Given the description of an element on the screen output the (x, y) to click on. 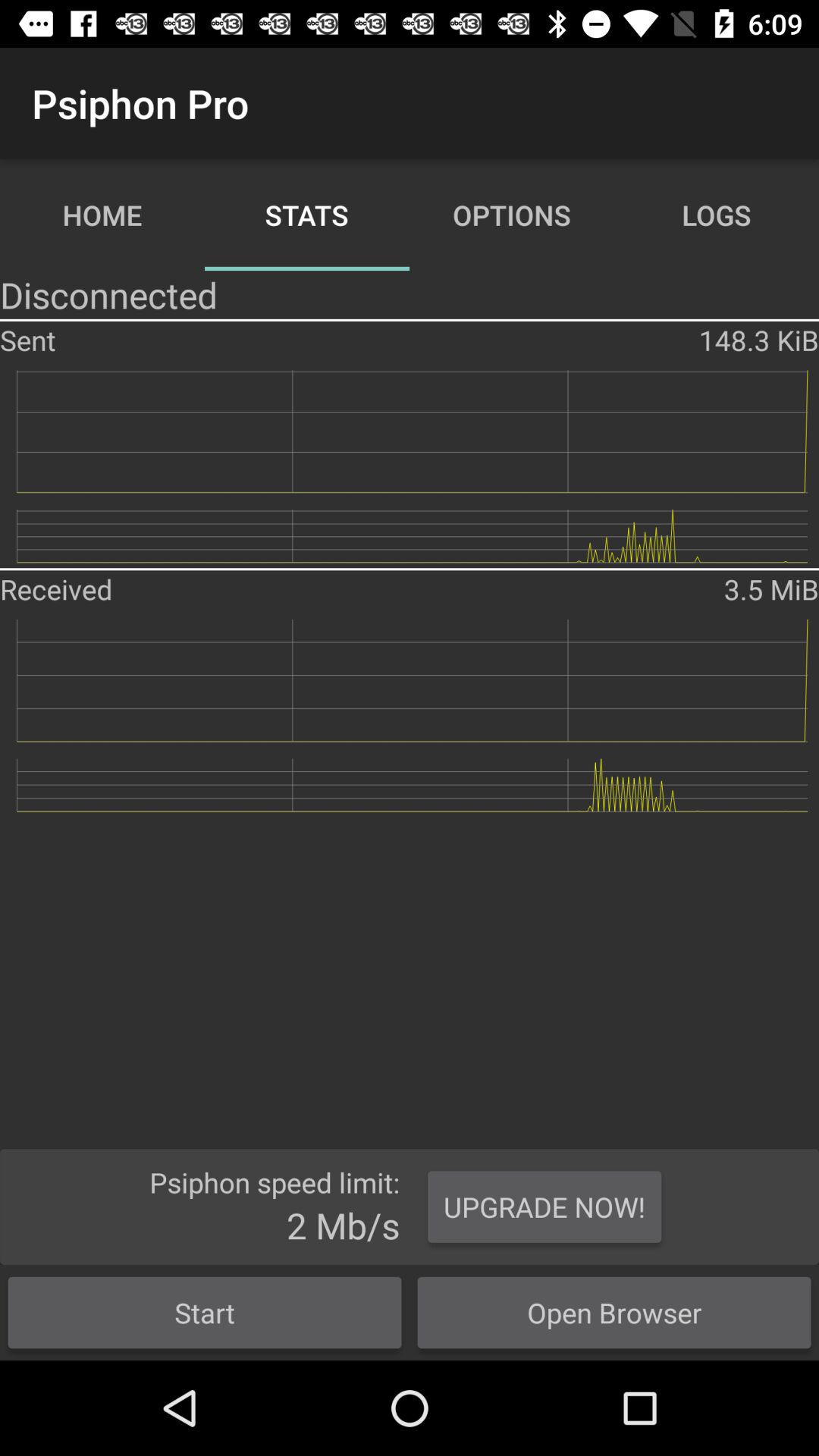
flip to start button (204, 1312)
